Given the description of an element on the screen output the (x, y) to click on. 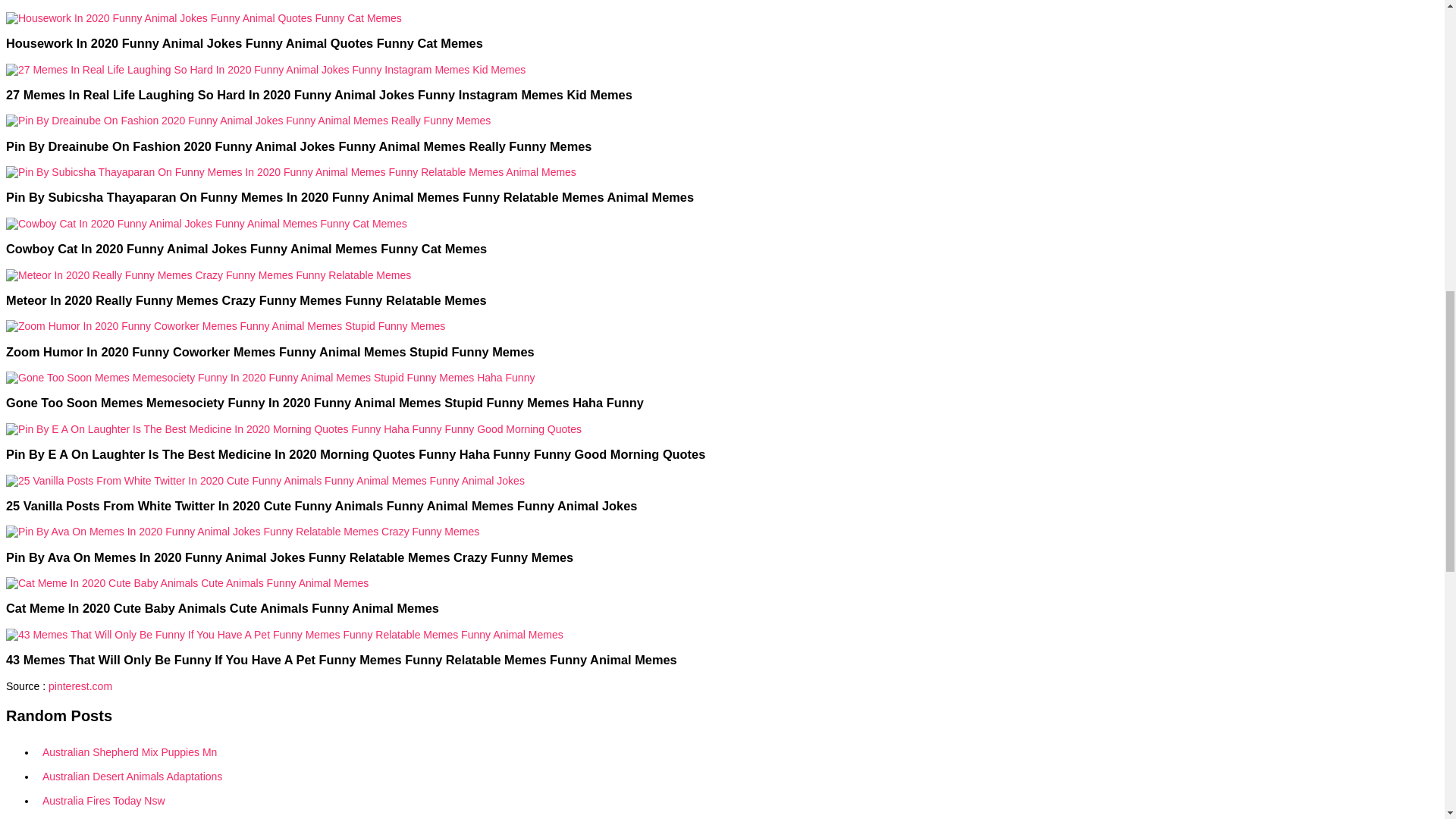
Australia Fires Today Nsw (409, 800)
Australian Shepherd Mix Puppies Mn (409, 752)
pinterest.com (80, 685)
Australian Desert Animals Adaptations (409, 776)
